Given the description of an element on the screen output the (x, y) to click on. 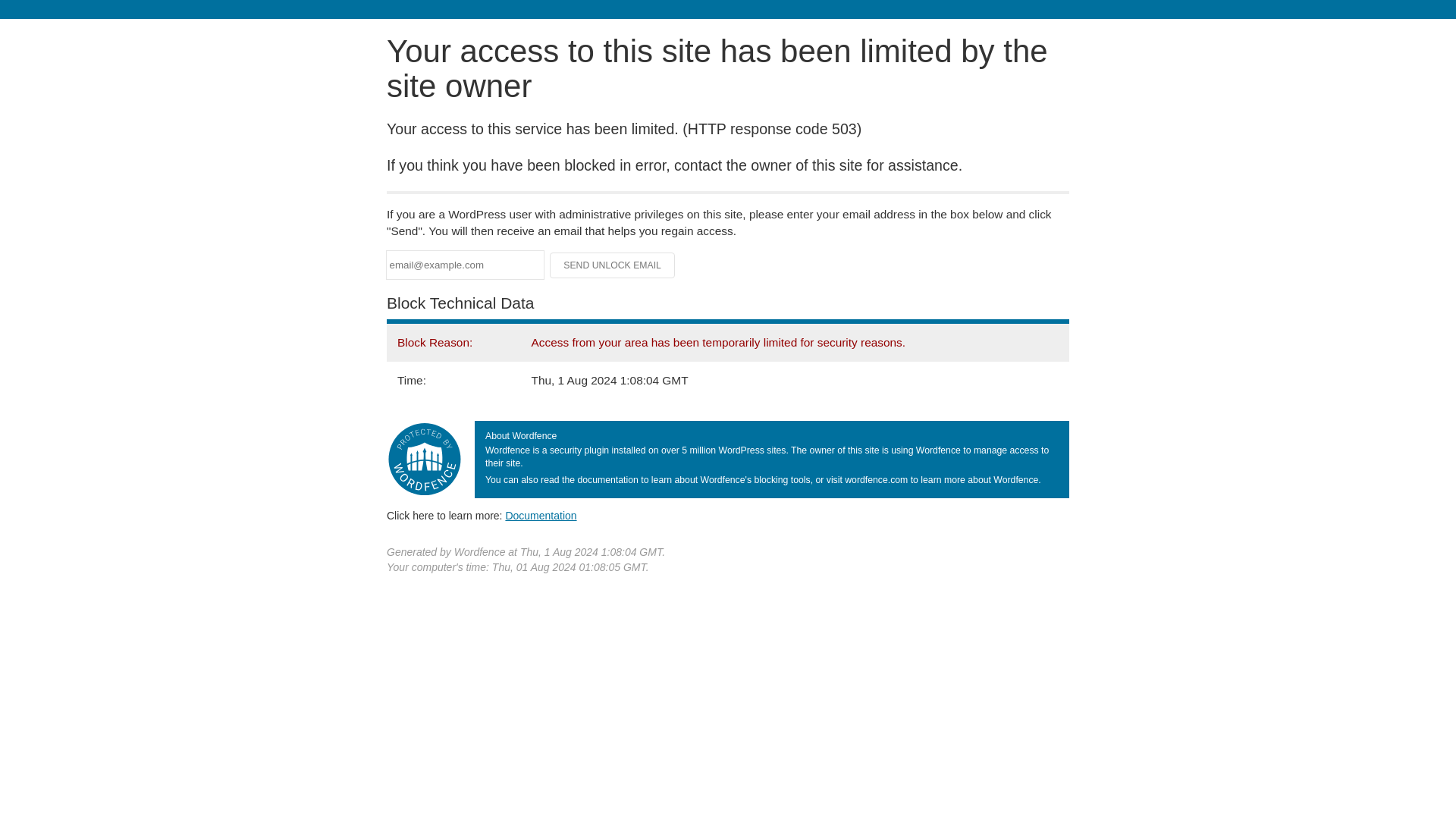
Send Unlock Email (612, 265)
Send Unlock Email (612, 265)
Documentation (540, 515)
